Given the description of an element on the screen output the (x, y) to click on. 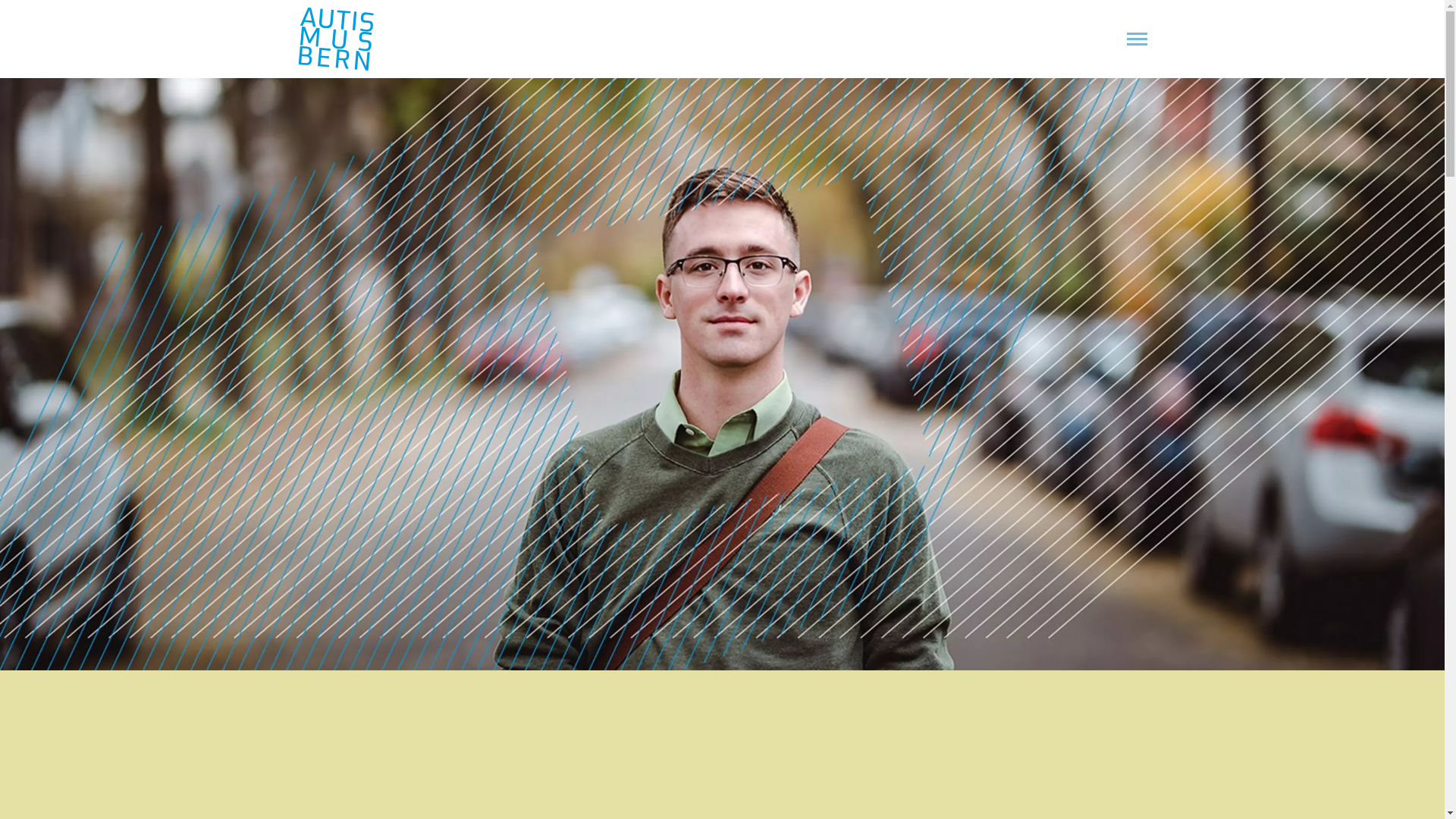
Autismus Bern Element type: hover (335, 38)
